Given the description of an element on the screen output the (x, y) to click on. 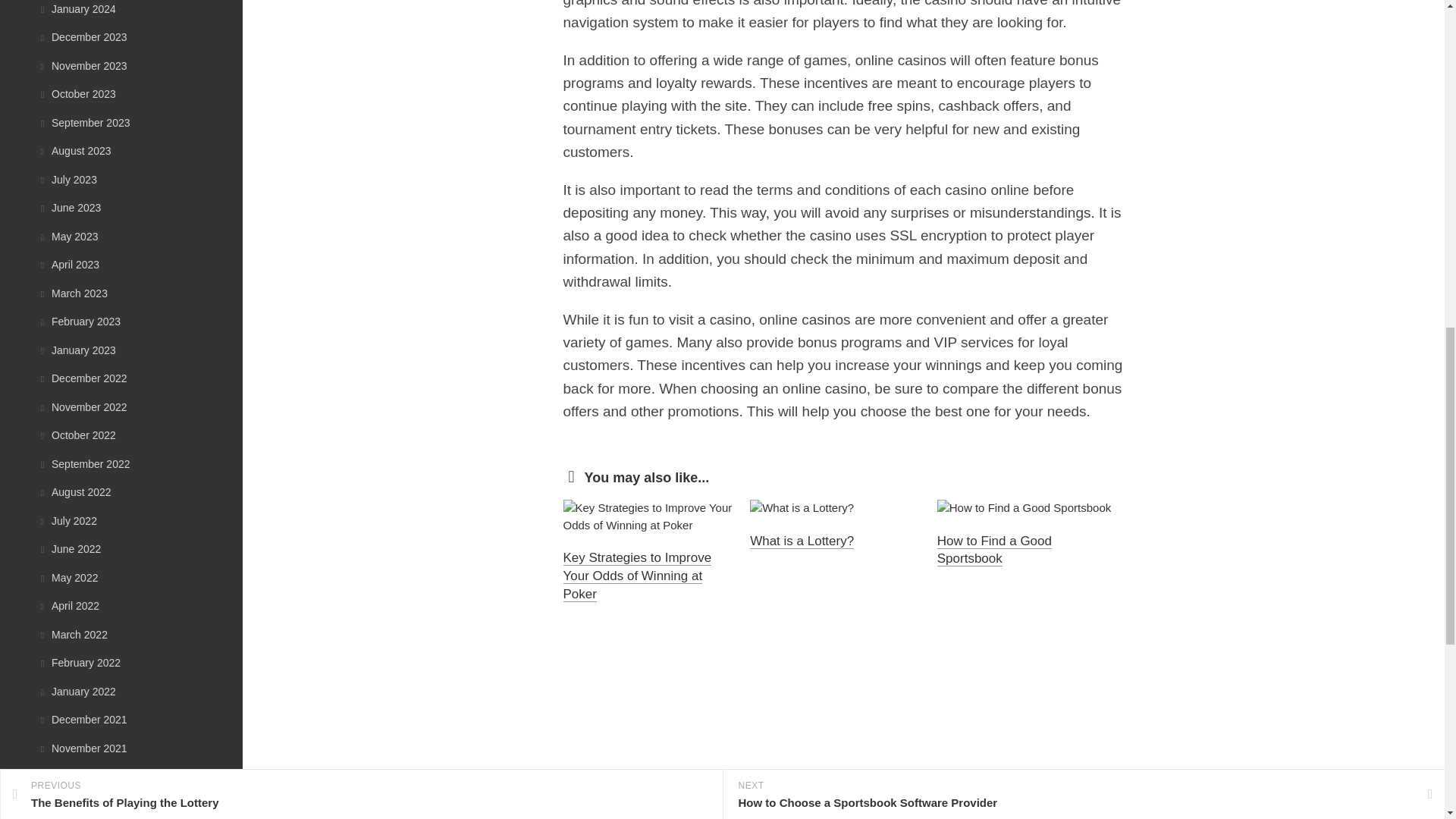
August 2023 (74, 150)
November 2023 (82, 64)
May 2023 (67, 236)
December 2023 (82, 37)
January 2024 (76, 9)
December 2022 (82, 378)
April 2023 (68, 264)
June 2023 (68, 207)
October 2023 (76, 93)
March 2023 (72, 292)
July 2023 (67, 178)
What is a Lottery? (801, 540)
Key Strategies to Improve Your Odds of Winning at Poker (636, 575)
January 2023 (76, 349)
February 2023 (78, 321)
